Given the description of an element on the screen output the (x, y) to click on. 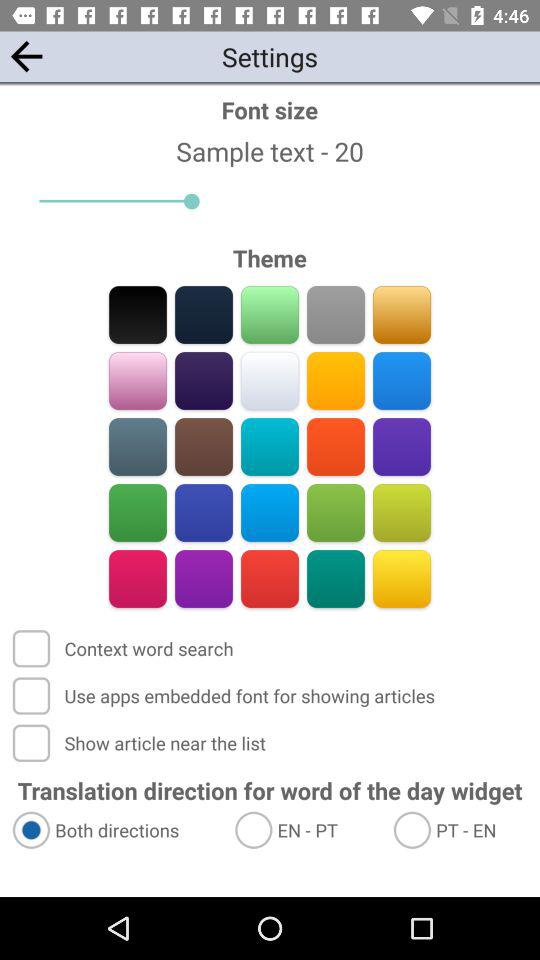
go to theme (203, 578)
